Given the description of an element on the screen output the (x, y) to click on. 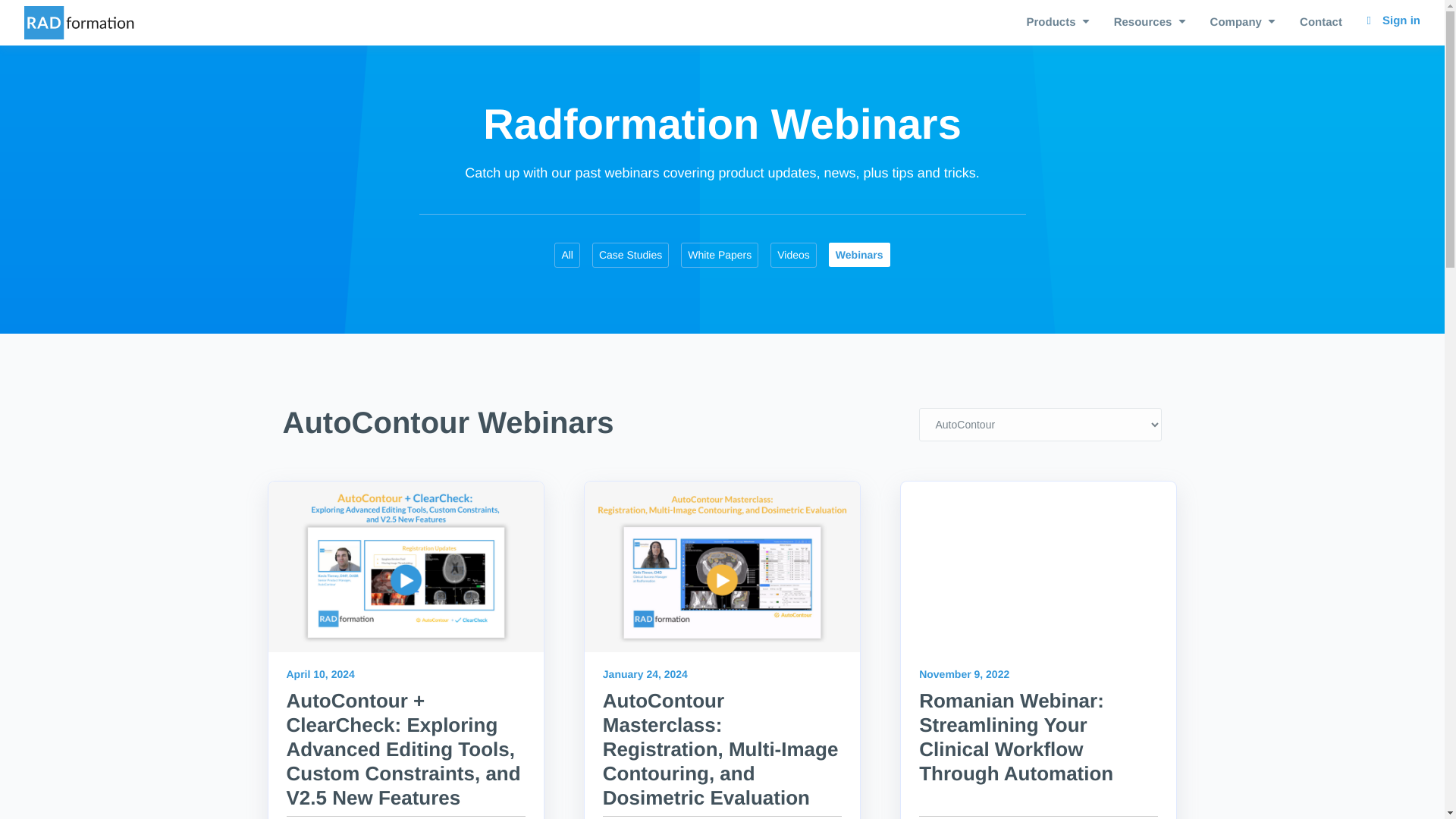
Products (1057, 22)
Resources (1149, 22)
Company (1242, 22)
